Given the description of an element on the screen output the (x, y) to click on. 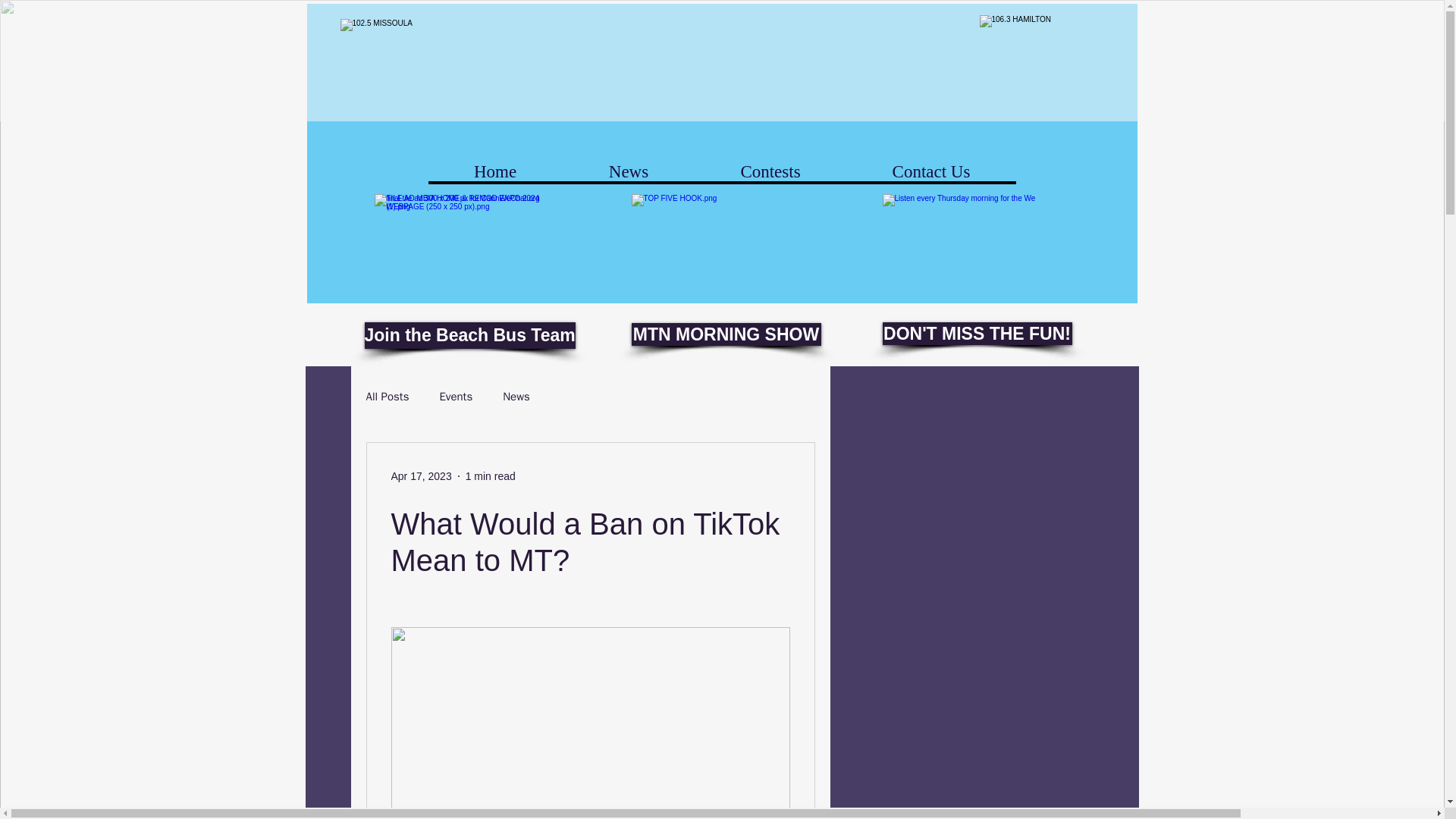
DON'T MISS THE FUN! (976, 333)
Apr 17, 2023 (421, 476)
News (515, 396)
1063.png (1039, 55)
Home (495, 171)
Join the Beach Bus Team (469, 335)
WEEK-END PICKS (976, 258)
Events (455, 396)
Contests (769, 171)
All Posts (387, 396)
